Given the description of an element on the screen output the (x, y) to click on. 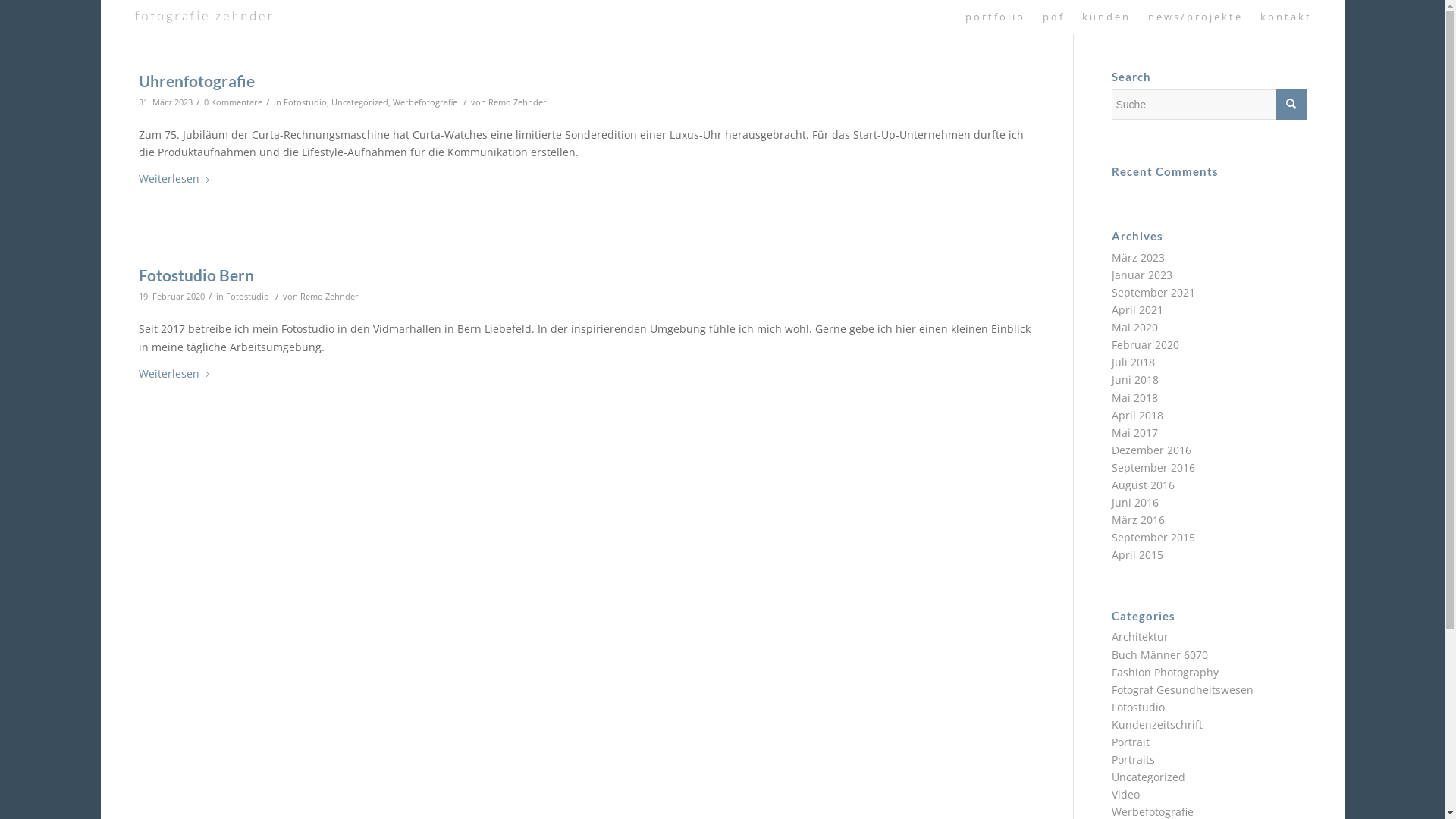
Fotograf Gesundheitswesen Element type: text (1182, 689)
August 2016 Element type: text (1142, 484)
0 Kommentare Element type: text (232, 101)
Fotostudio Element type: text (304, 101)
April 2021 Element type: text (1137, 309)
n e w s / p r o j e k t e Element type: text (1194, 17)
Fotostudio Element type: text (247, 295)
k u n d e n Element type: text (1105, 17)
Uncategorized Element type: text (1148, 776)
September 2016 Element type: text (1153, 467)
LOGO Element type: hover (203, 17)
Uhrenfotografie Element type: text (196, 80)
September 2015 Element type: text (1153, 537)
Fotostudio Bern Element type: text (195, 274)
Januar 2023 Element type: text (1141, 274)
Remo Zehnder Element type: text (329, 295)
p d f Element type: text (1052, 17)
Juni 2018 Element type: text (1134, 379)
Weiterlesen Element type: text (176, 178)
Juni 2016 Element type: text (1134, 502)
Remo Zehnder Element type: text (517, 101)
Februar 2020 Element type: text (1145, 344)
Werbefotografie Element type: text (424, 101)
p o r t f o l i o Element type: text (993, 17)
k o n t a k t Element type: text (1284, 17)
Video Element type: text (1125, 794)
Weiterlesen Element type: text (176, 373)
Portrait Element type: text (1130, 741)
September 2021 Element type: text (1153, 292)
Uncategorized Element type: text (358, 101)
Dezember 2016 Element type: text (1151, 449)
April 2018 Element type: text (1137, 414)
Fotostudio Element type: text (1137, 706)
Mai 2017 Element type: text (1134, 432)
Fashion Photography Element type: text (1164, 672)
Mai 2020 Element type: text (1134, 327)
Juli 2018 Element type: text (1132, 361)
Kundenzeitschrift Element type: text (1156, 724)
April 2015 Element type: text (1137, 554)
Mai 2018 Element type: text (1134, 397)
Portraits Element type: text (1132, 759)
Architektur Element type: text (1139, 636)
